Given the description of an element on the screen output the (x, y) to click on. 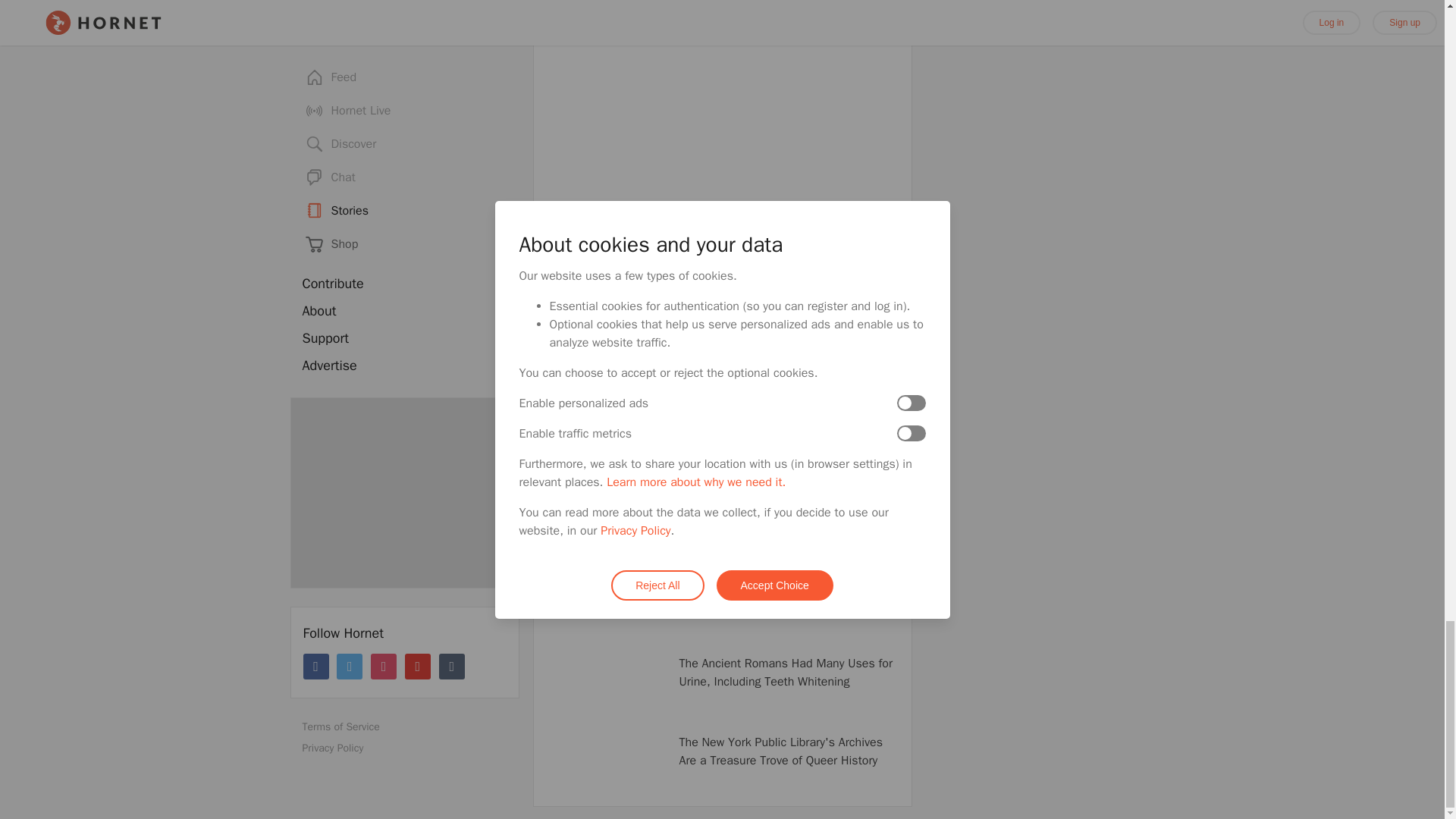
Tweet (614, 400)
here (730, 352)
Post (566, 400)
Share (714, 400)
Share (664, 400)
here (557, 369)
